Given the description of an element on the screen output the (x, y) to click on. 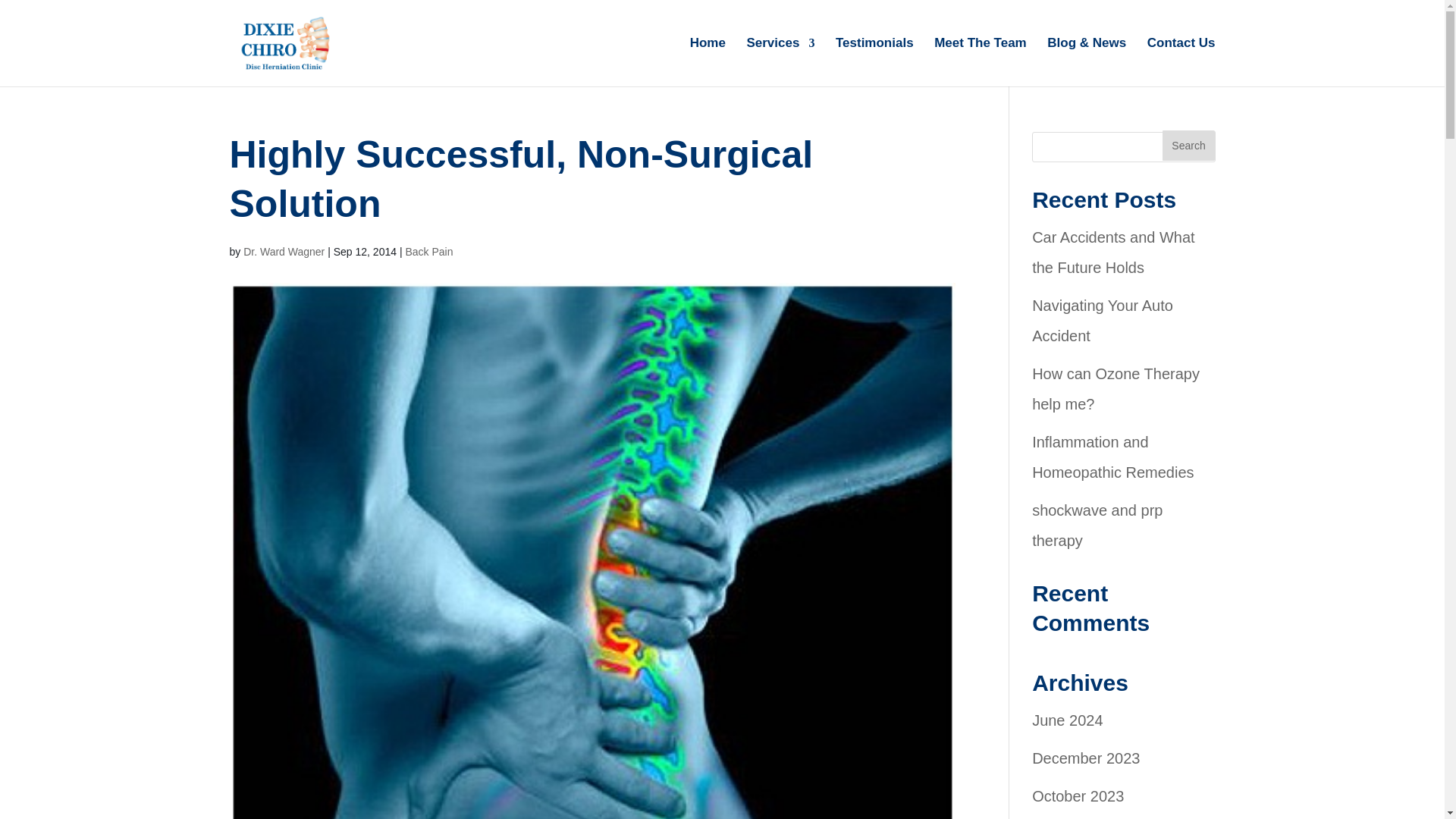
Search (1187, 145)
Back Pain (428, 251)
Meet The Team (980, 61)
Testimonials (874, 61)
Navigating Your Auto Accident (1102, 320)
December 2023 (1086, 758)
Dr. Ward Wagner (283, 251)
How can Ozone Therapy help me? (1115, 388)
Search (1187, 145)
October 2023 (1078, 795)
Contact Us (1181, 61)
Posts by Dr. Ward Wagner (283, 251)
Services (779, 61)
June 2024 (1067, 719)
Inflammation and Homeopathic Remedies (1112, 457)
